Given the description of an element on the screen output the (x, y) to click on. 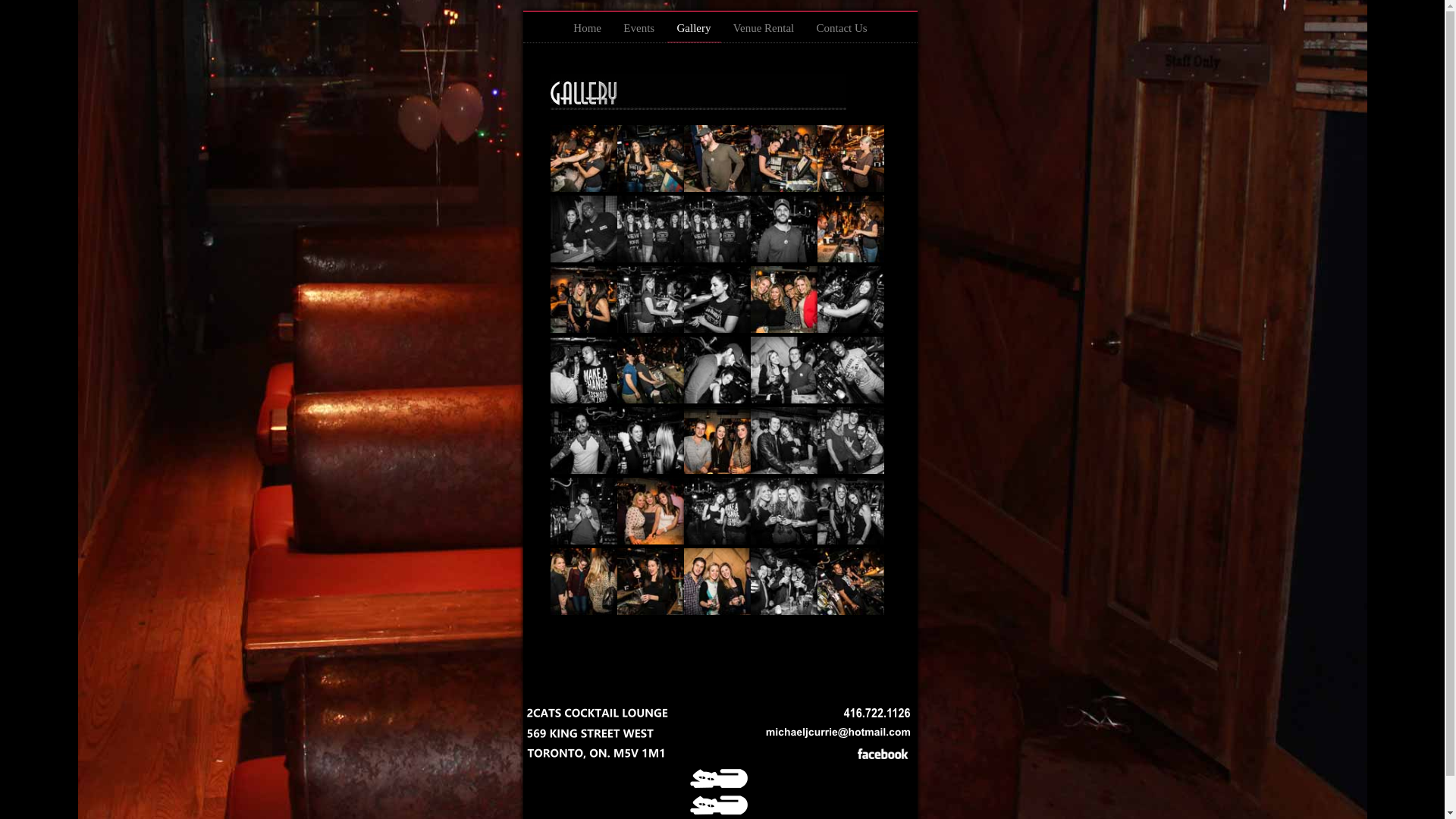
Gallery Element type: text (694, 31)
Events Element type: text (638, 31)
Contact Us Element type: text (841, 31)
Home Element type: text (587, 31)
Venue Rental Element type: text (763, 31)
Bar and Restaurant Website Element type: hover (718, 811)
